Given the description of an element on the screen output the (x, y) to click on. 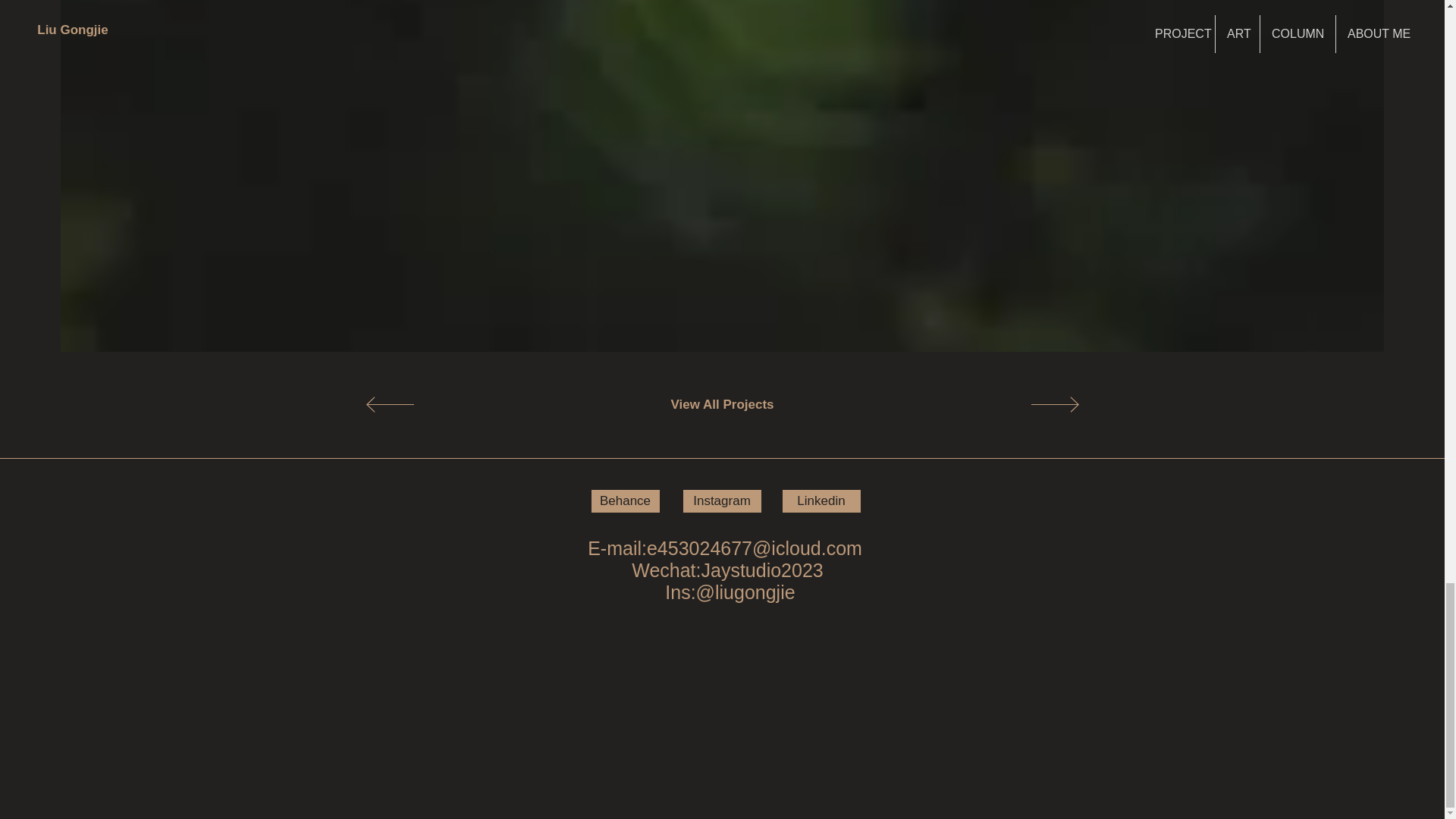
Instagram (721, 500)
View All Projects (722, 404)
Behance (625, 500)
Linkedin (821, 500)
